Given the description of an element on the screen output the (x, y) to click on. 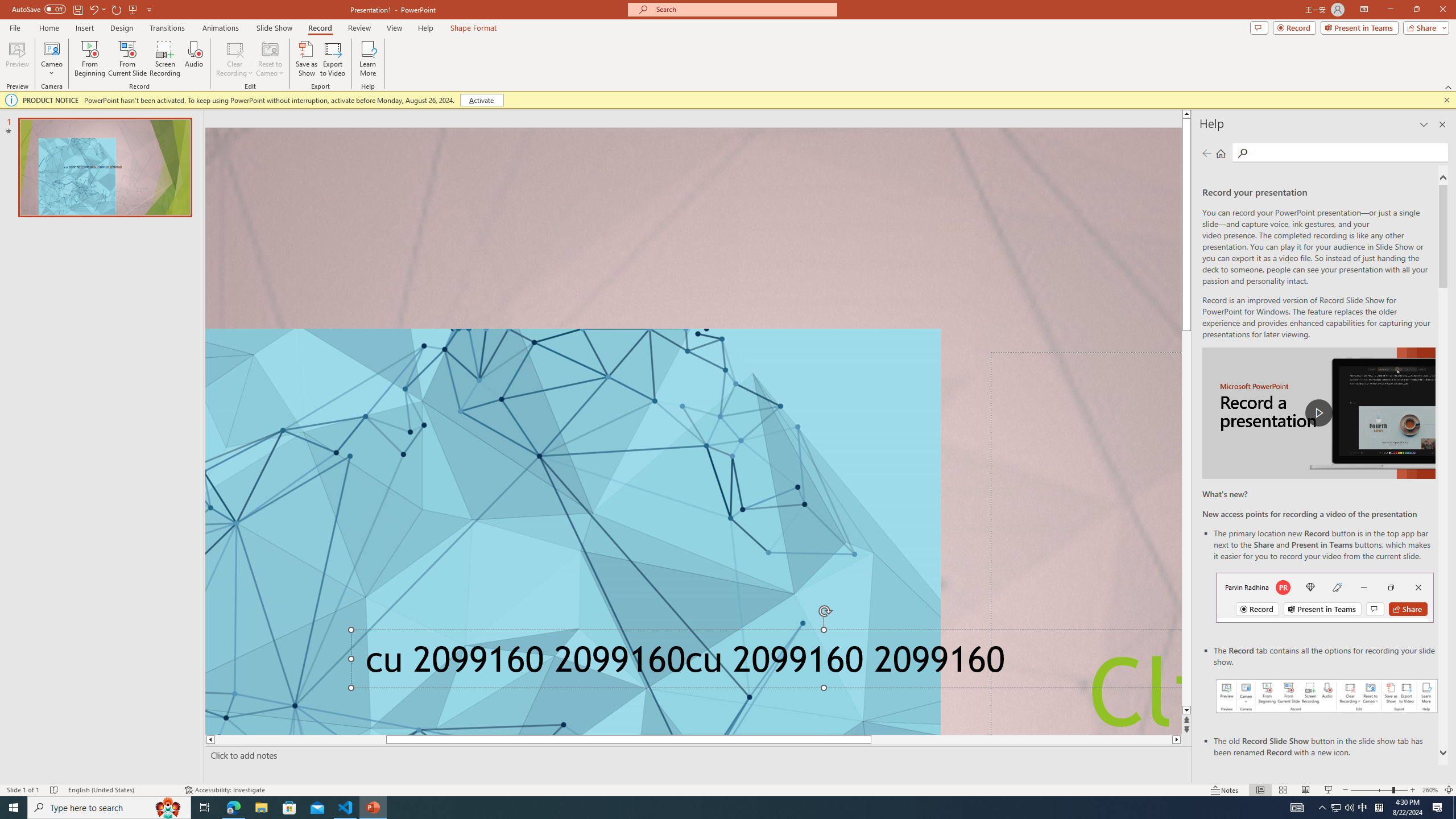
TextBox 61 (762, 663)
Record button in top bar (1324, 597)
